Given the description of an element on the screen output the (x, y) to click on. 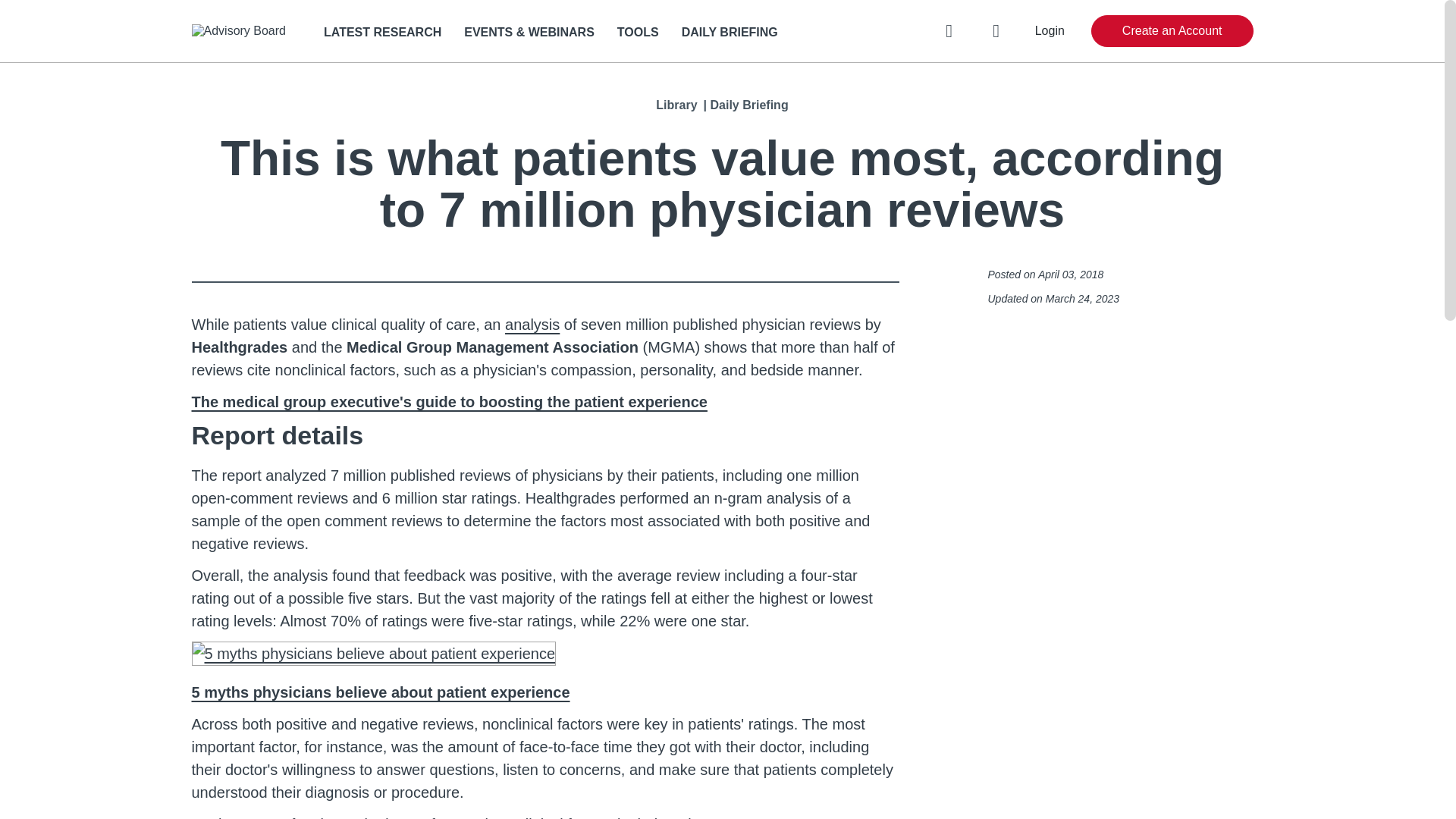
Create an Account (1171, 30)
DAILY BRIEFING (729, 31)
Login (1049, 30)
LATEST RESEARCH (382, 31)
ab-header-logo (237, 30)
TOOLS (638, 31)
